Given the description of an element on the screen output the (x, y) to click on. 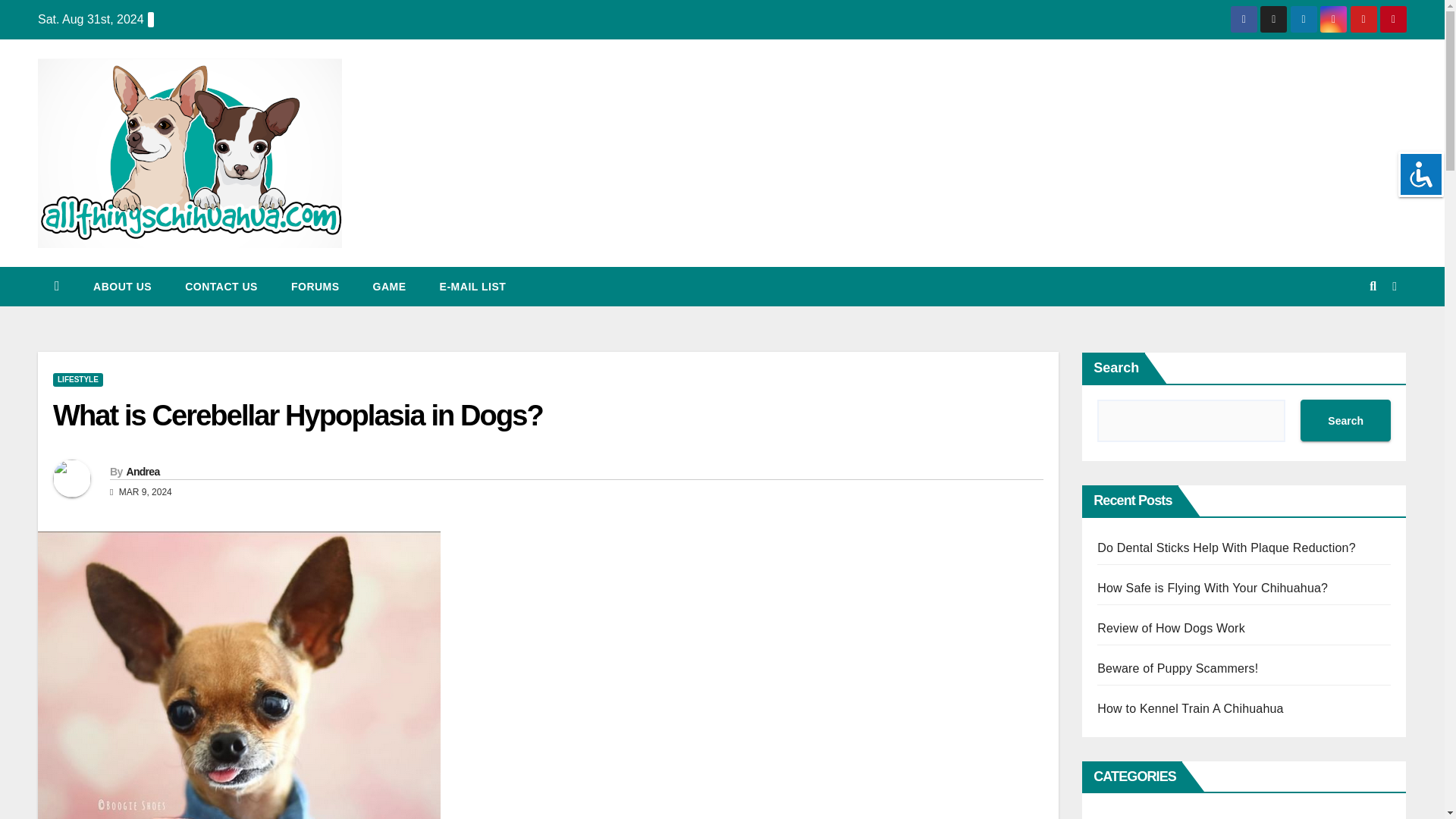
Forums (315, 286)
LIFESTYLE (77, 379)
GAME (389, 286)
What is Cerebellar Hypoplasia in Dogs? (297, 415)
E-MAIL LIST (472, 286)
CONTACT US (221, 286)
Permalink to: What is Cerebellar Hypoplasia in Dogs? (297, 415)
ABOUT US (122, 286)
Andrea (141, 471)
Game (389, 286)
